Given the description of an element on the screen output the (x, y) to click on. 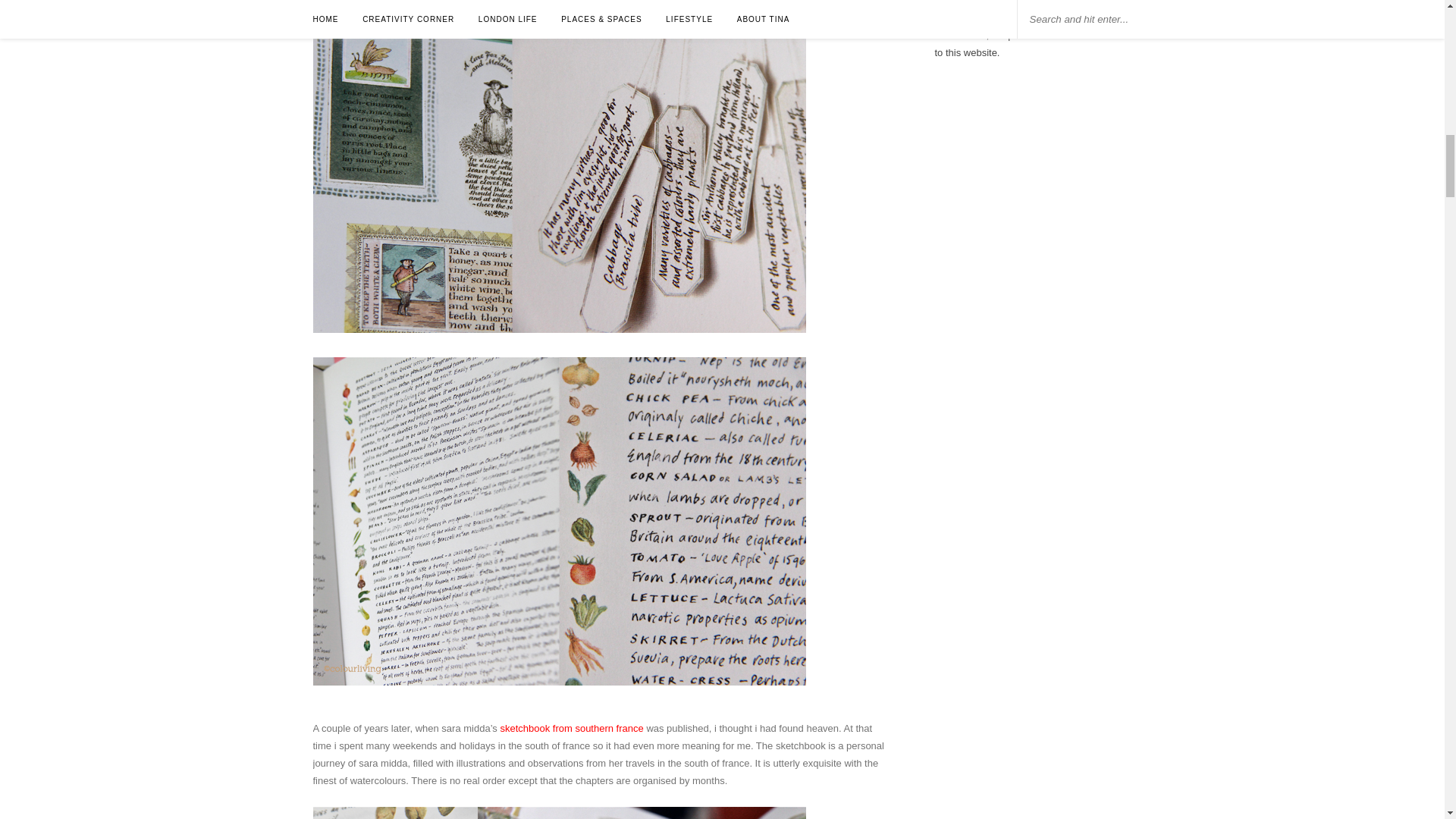
blog sara midda 6 (559, 812)
